Given the description of an element on the screen output the (x, y) to click on. 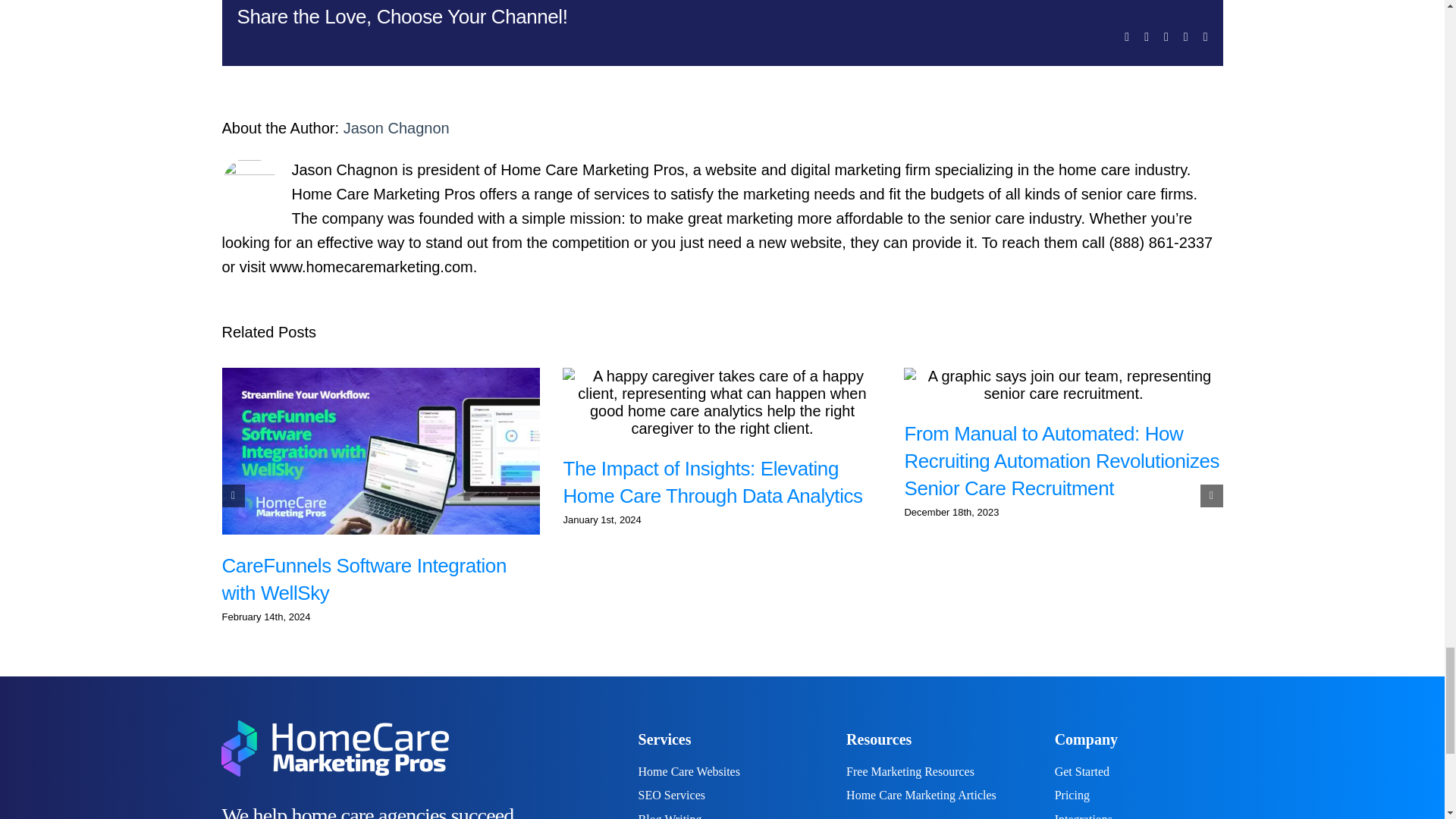
CareFunnels Software Integration with WellSky (363, 579)
Posts by Jason Chagnon (396, 127)
